Given the description of an element on the screen output the (x, y) to click on. 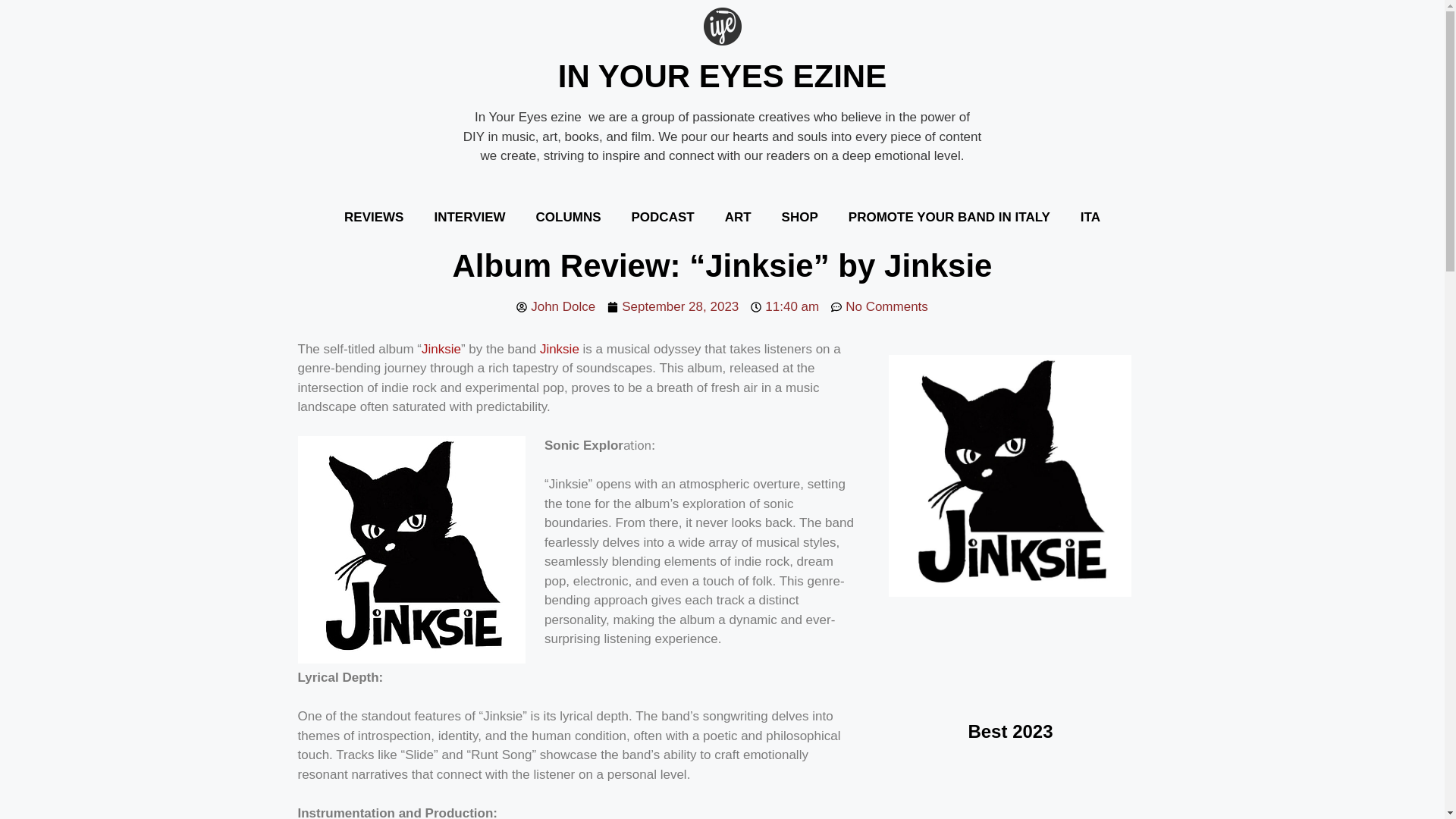
No Comments (879, 306)
INTERVIEW (469, 217)
PODCAST (662, 217)
Jinksie (441, 348)
PROMOTE YOUR BAND IN ITALY (948, 217)
ITA (1090, 217)
SHOP (799, 217)
September 28, 2023 (672, 306)
ART (738, 217)
John Dolce (555, 306)
